Given the description of an element on the screen output the (x, y) to click on. 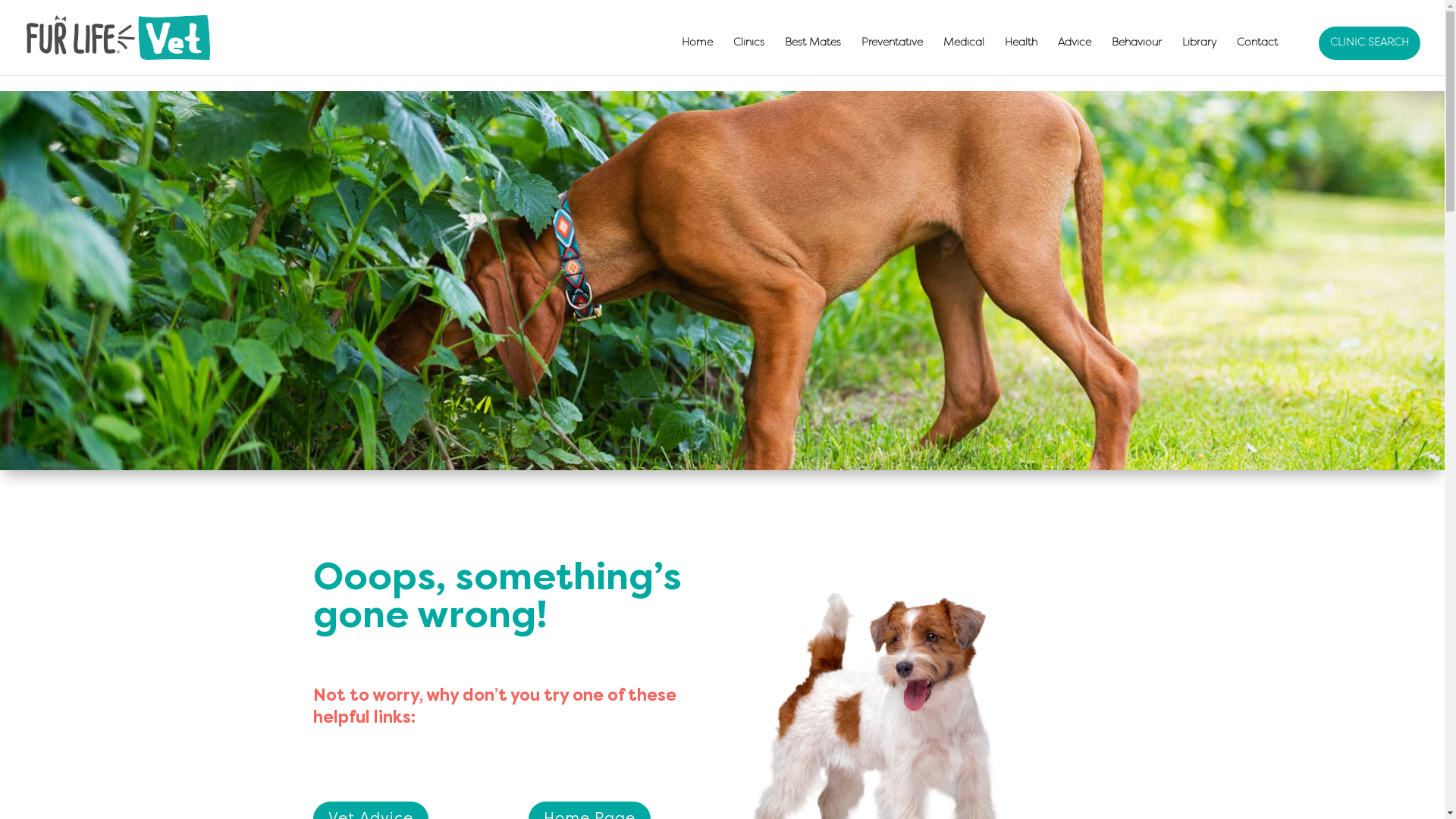
Health Element type: text (1020, 56)
Preventative Element type: text (891, 56)
Home Element type: text (696, 56)
Advice Element type: text (1074, 56)
Medical Element type: text (963, 56)
Library Element type: text (1199, 56)
Best Mates Element type: text (812, 56)
Behaviour Element type: text (1136, 56)
Clinics Element type: text (748, 56)
CLINIC SEARCH Element type: text (1369, 42)
Contact Element type: text (1256, 56)
